Given the description of an element on the screen output the (x, y) to click on. 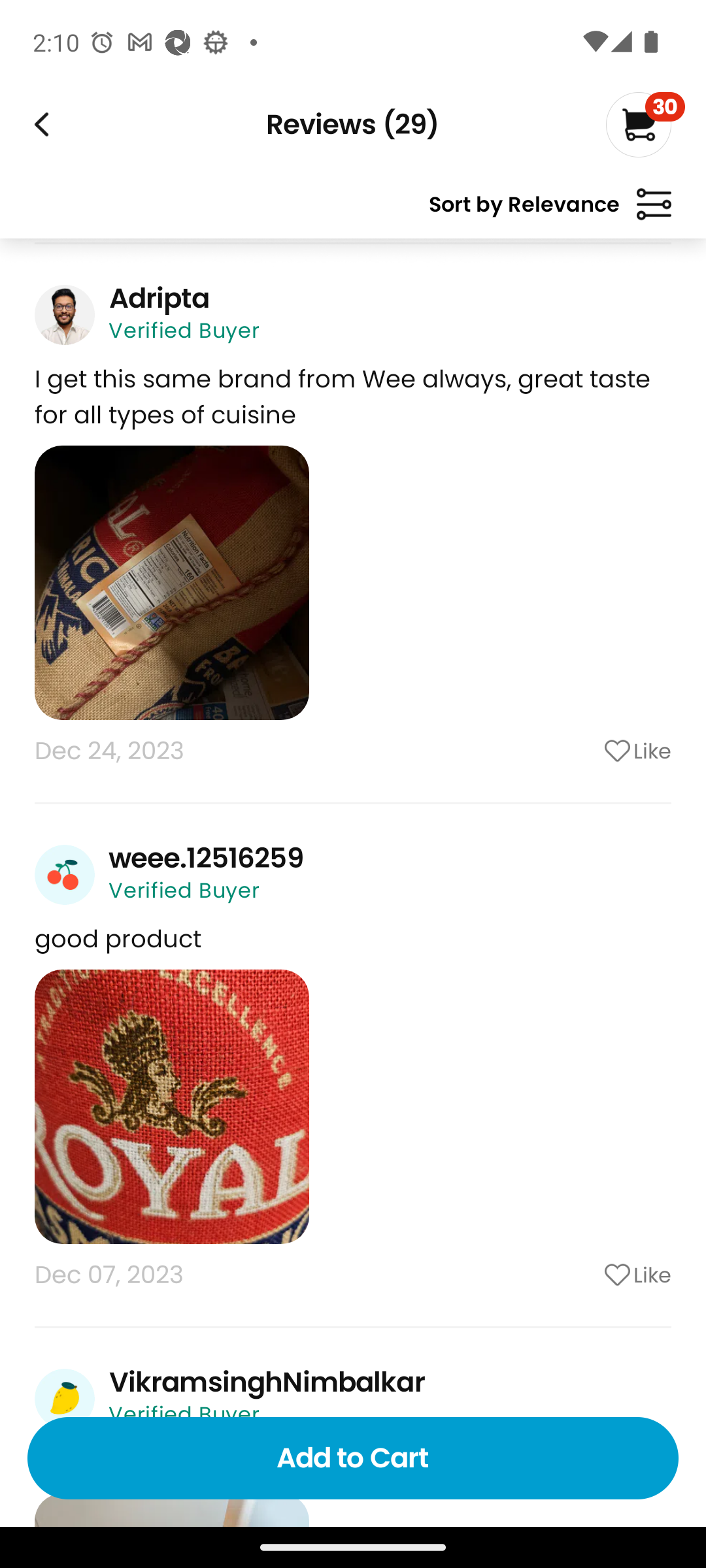
30 (644, 124)
Sort by Relevance (549, 212)
Adripta (158, 297)
Verified Buyer (183, 329)
Like (585, 750)
weee.12516259 (206, 858)
Verified Buyer (183, 889)
Like (585, 1274)
VikramsinghNimbalkar (266, 1381)
Add to Cart (352, 1458)
